Given the description of an element on the screen output the (x, y) to click on. 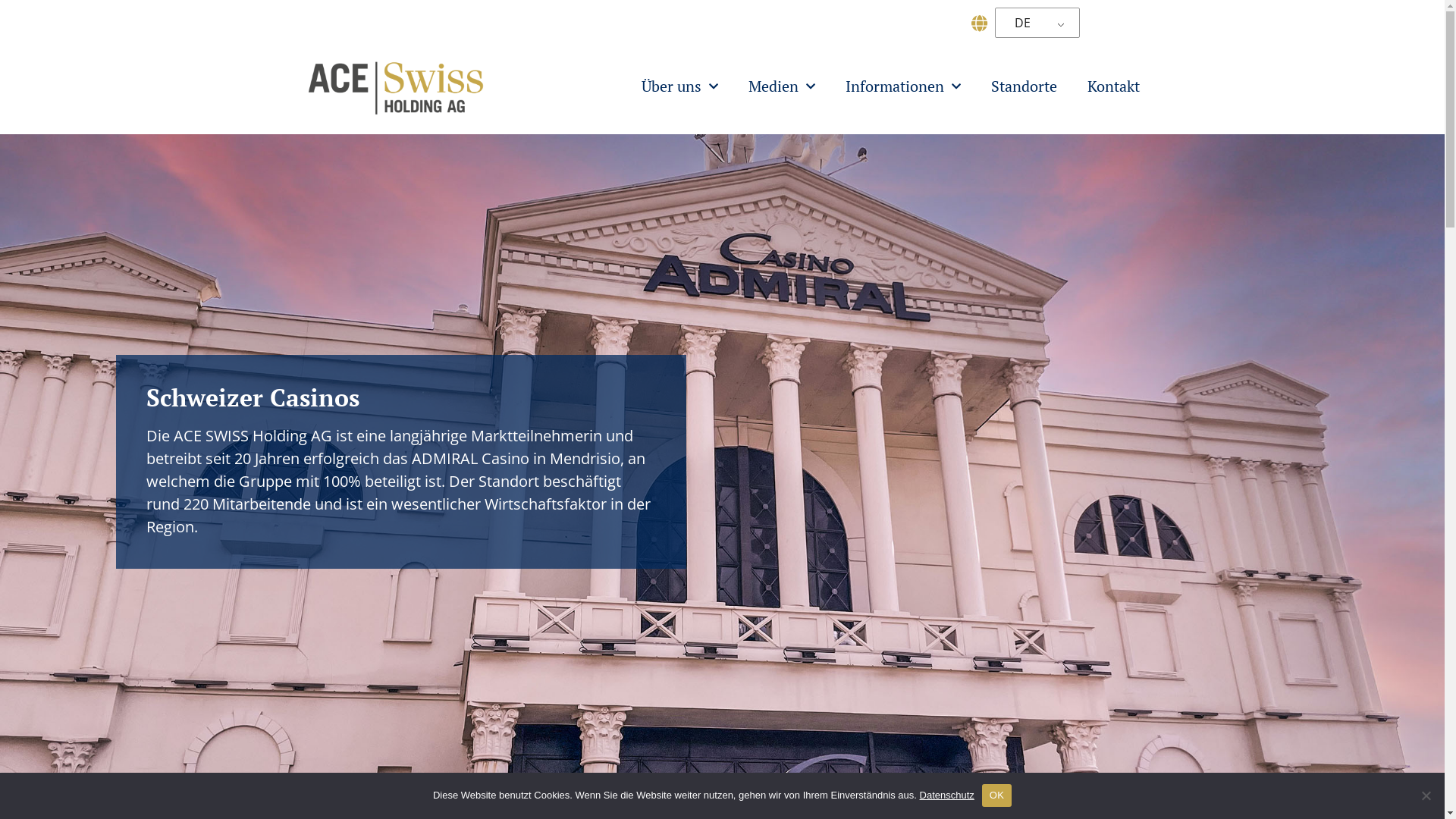
Standorte Element type: text (1023, 86)
Nein Element type: hover (1425, 795)
OK Element type: text (996, 795)
DE Element type: text (1034, 22)
Kontakt Element type: text (1113, 86)
Informationen Element type: text (902, 86)
Medien Element type: text (780, 86)
Datenschutz Element type: text (946, 794)
